Given the description of an element on the screen output the (x, y) to click on. 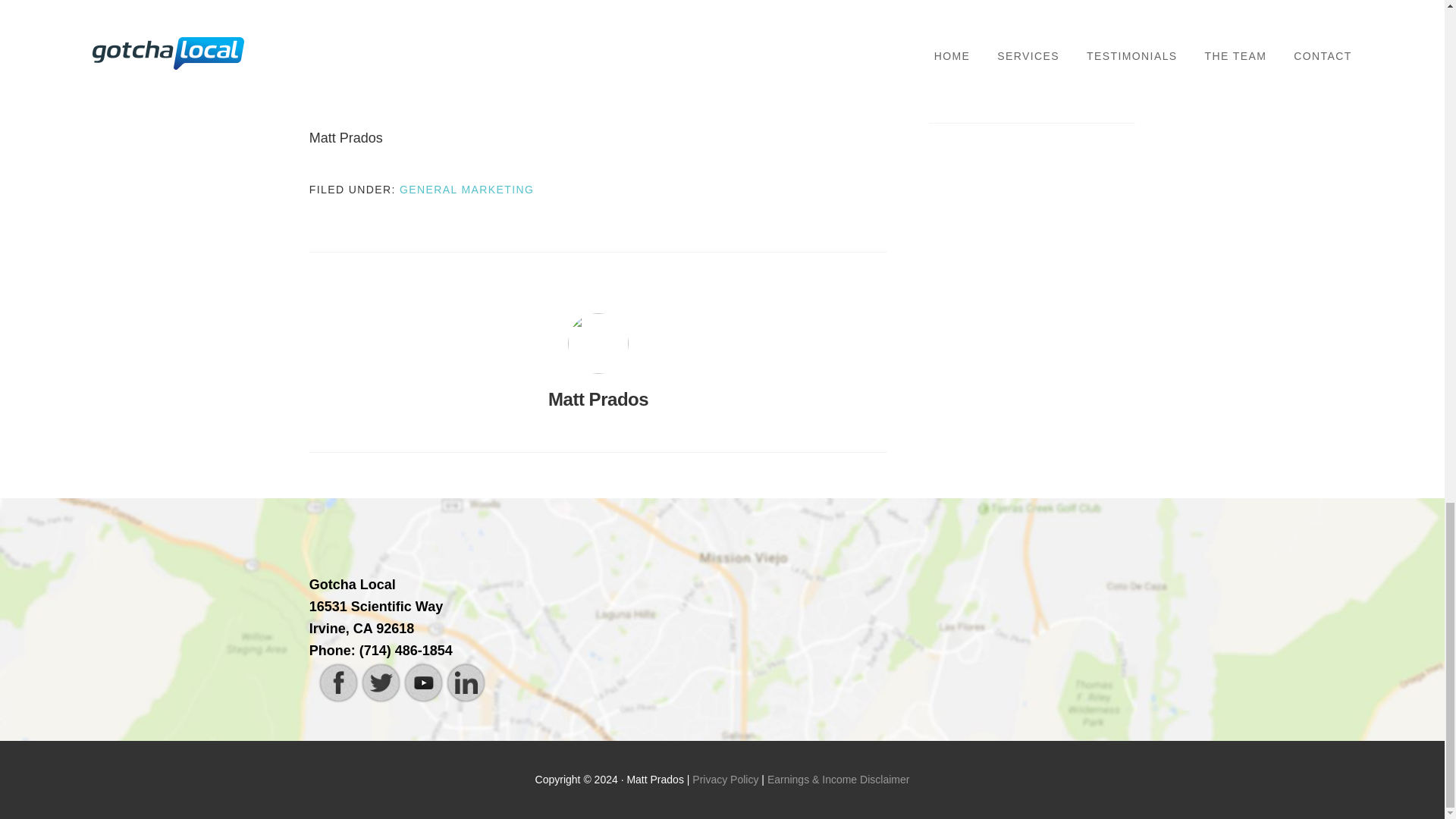
Visit Us On Facebook (338, 698)
Visit Us On Youtube (422, 698)
GENERAL MARKETING (466, 189)
Visit Us On Twitter (380, 698)
Visit Us On Linkedin (465, 698)
Privacy Policy (725, 779)
